Given the description of an element on the screen output the (x, y) to click on. 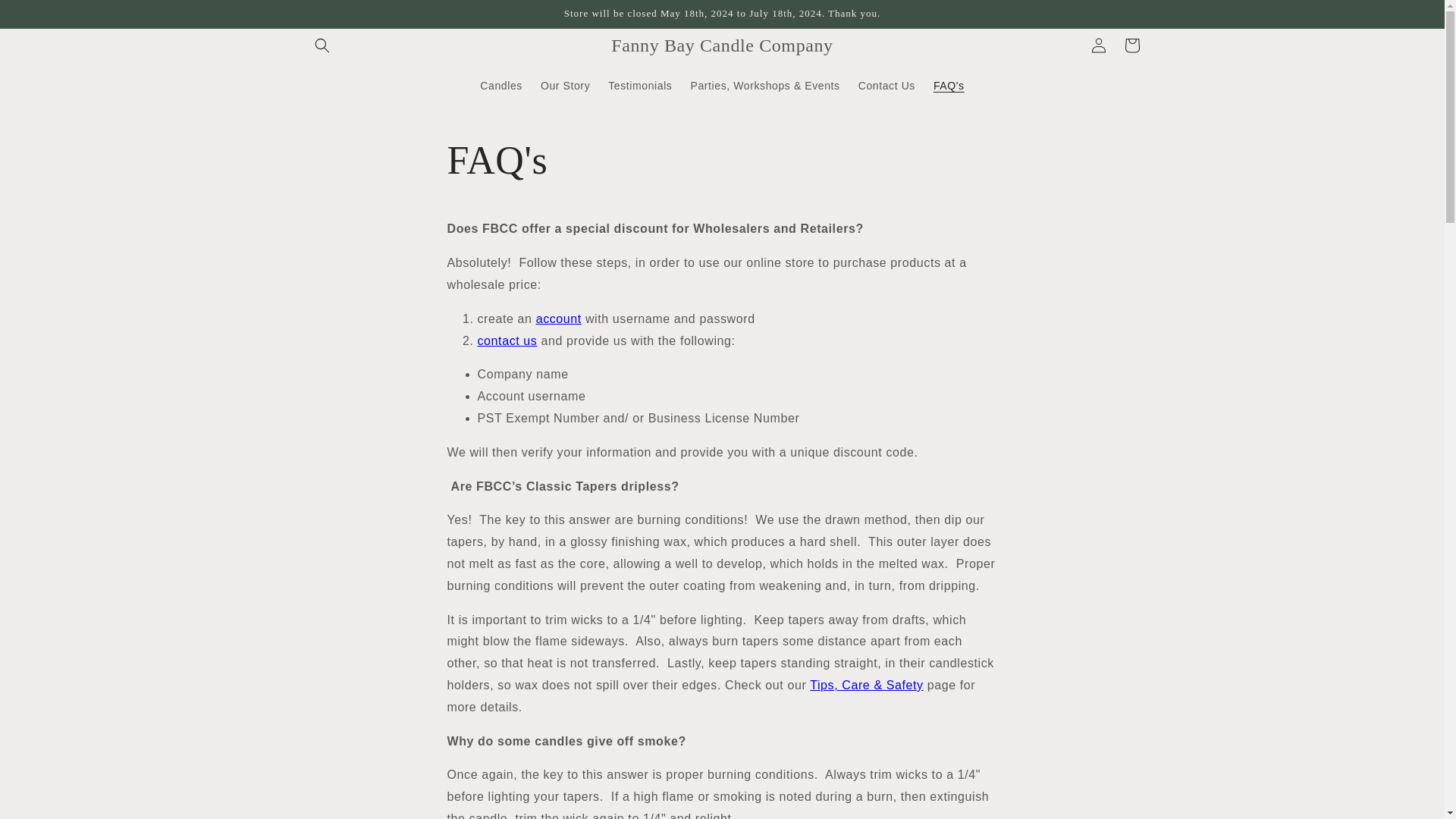
Log in (1098, 45)
Contact Us (886, 85)
Fanny Bay Candle Company (721, 44)
Cart (1131, 45)
FAQ's (949, 85)
Testimonials (639, 85)
contact us (507, 340)
account (557, 318)
Skip to content (45, 17)
Our Story (564, 85)
Candles (500, 85)
Create Account (557, 318)
